Given the description of an element on the screen output the (x, y) to click on. 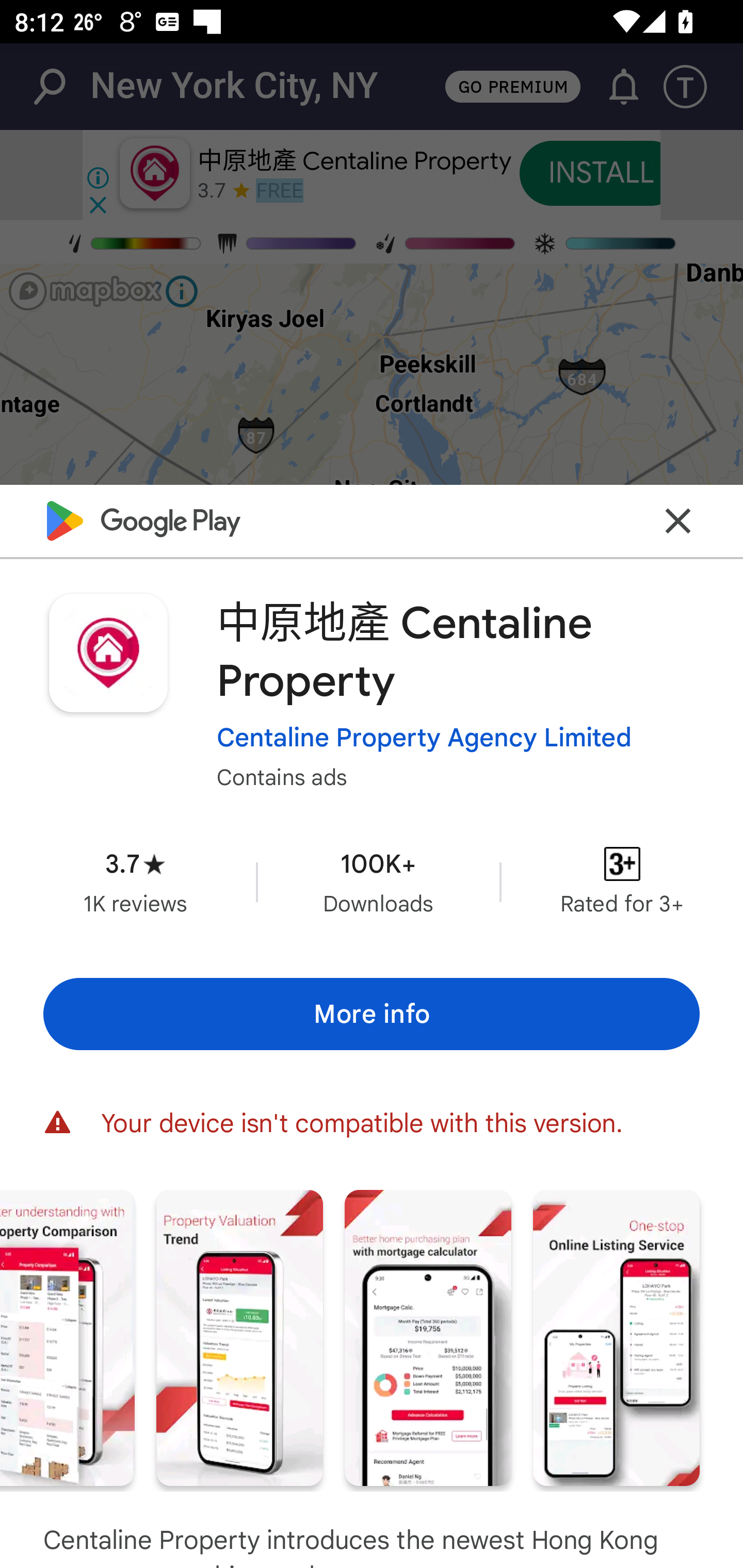
Close (677, 520)
Centaline Property Agency Limited (423, 737)
More info (371, 1014)
Screenshot "5" of "8" (67, 1338)
Screenshot "6" of "8" (239, 1338)
Screenshot "7" of "8" (427, 1338)
Screenshot "8" of "8" (615, 1338)
